Given the description of an element on the screen output the (x, y) to click on. 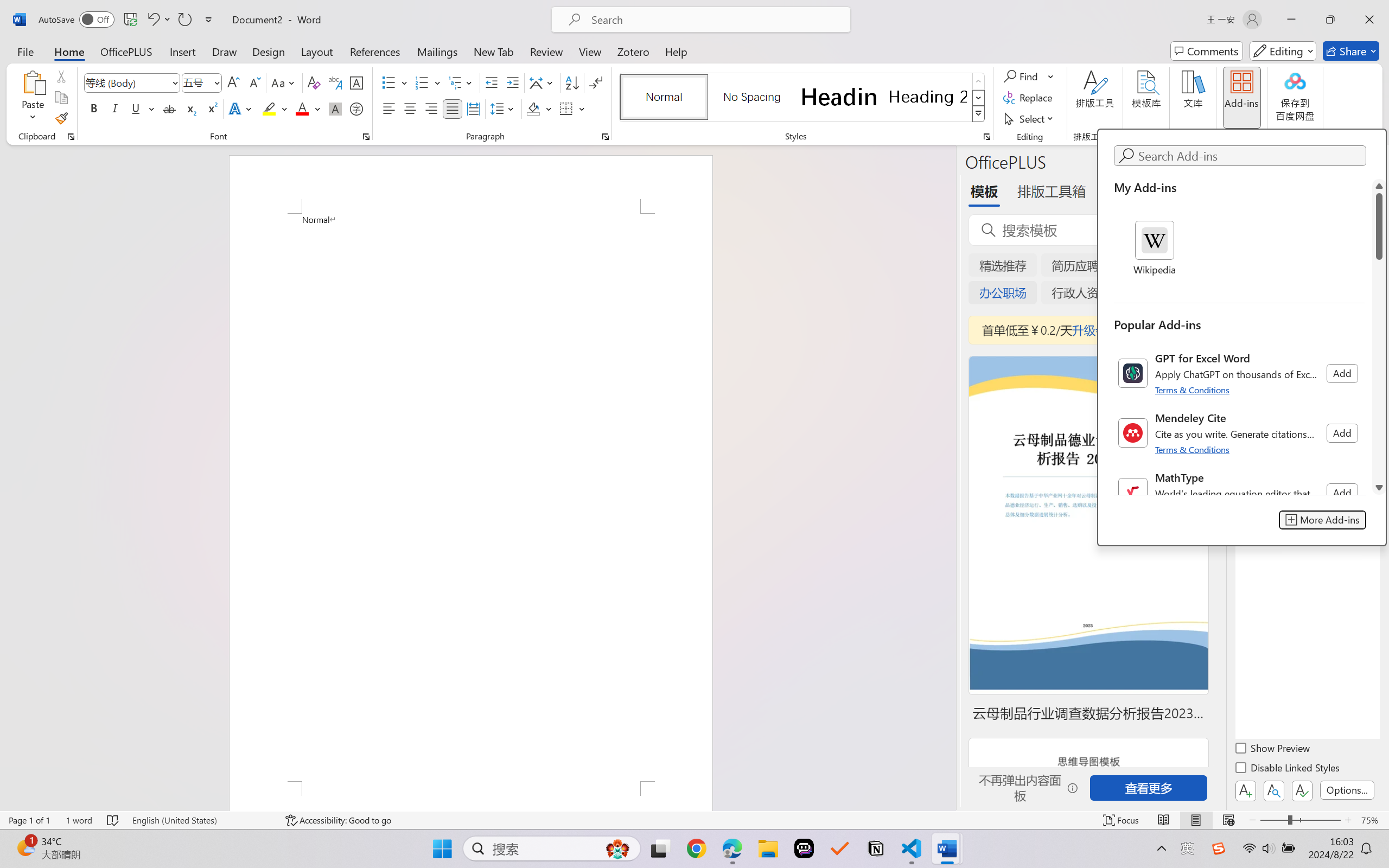
Language English (United States) (201, 819)
AutomationID: BadgeAnchorLargeTicker (24, 847)
Numbering (421, 82)
Justify (452, 108)
Paste (33, 81)
Superscript (210, 108)
Bullets (388, 82)
Class: NetUIScrollBar (1379, 336)
Change Case (284, 82)
Text Effects and Typography (241, 108)
Text Highlight Color (274, 108)
Align Left (388, 108)
